Given the description of an element on the screen output the (x, y) to click on. 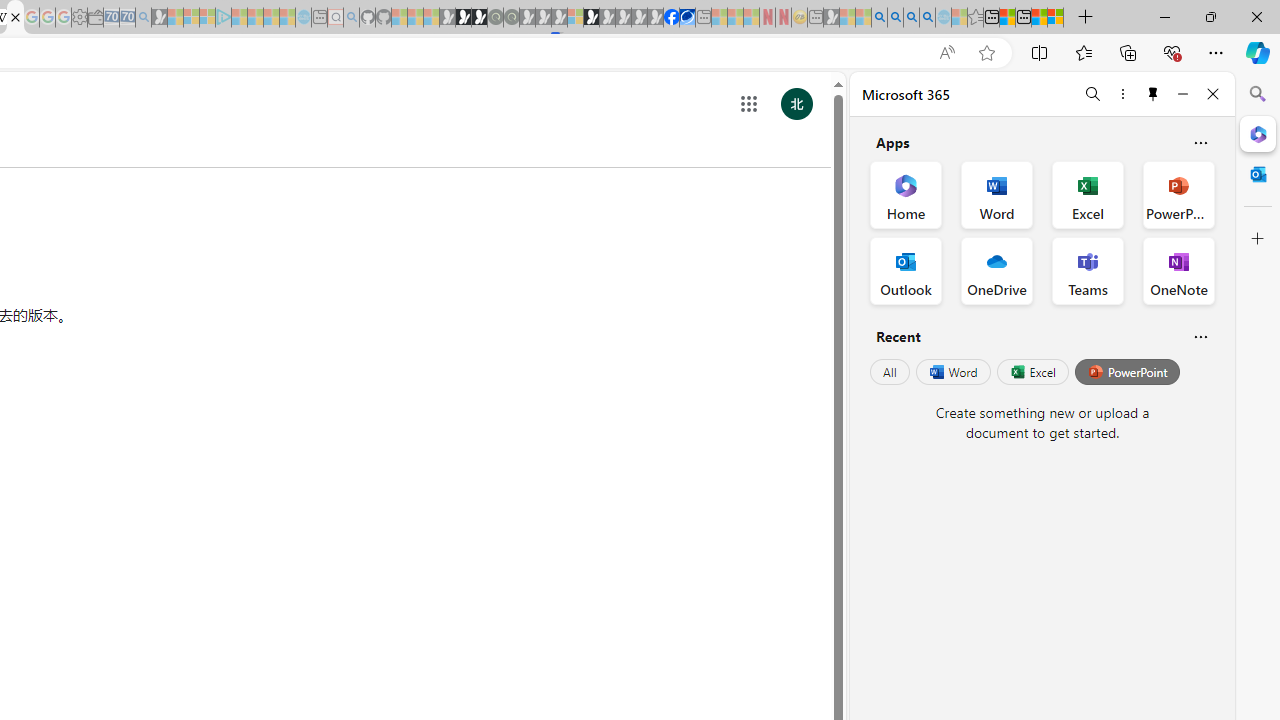
OneNote Office App (1178, 270)
github - Search - Sleeping (351, 17)
